Given the description of an element on the screen output the (x, y) to click on. 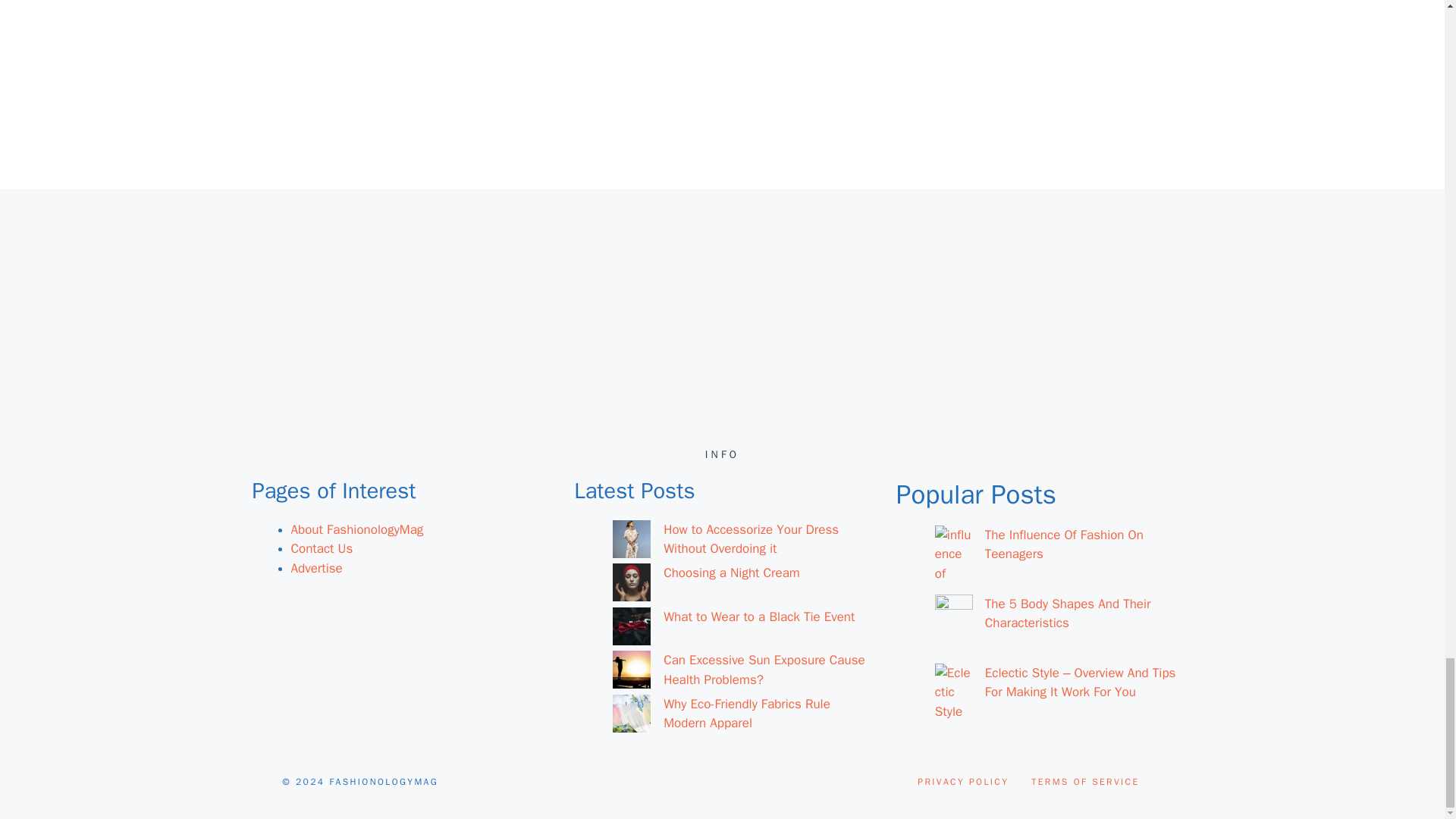
How to Accessorize Your Dress Without Overdoing it (750, 539)
About FashionologyMag (357, 529)
Contact Us (322, 548)
Advertise (316, 568)
